Given the description of an element on the screen output the (x, y) to click on. 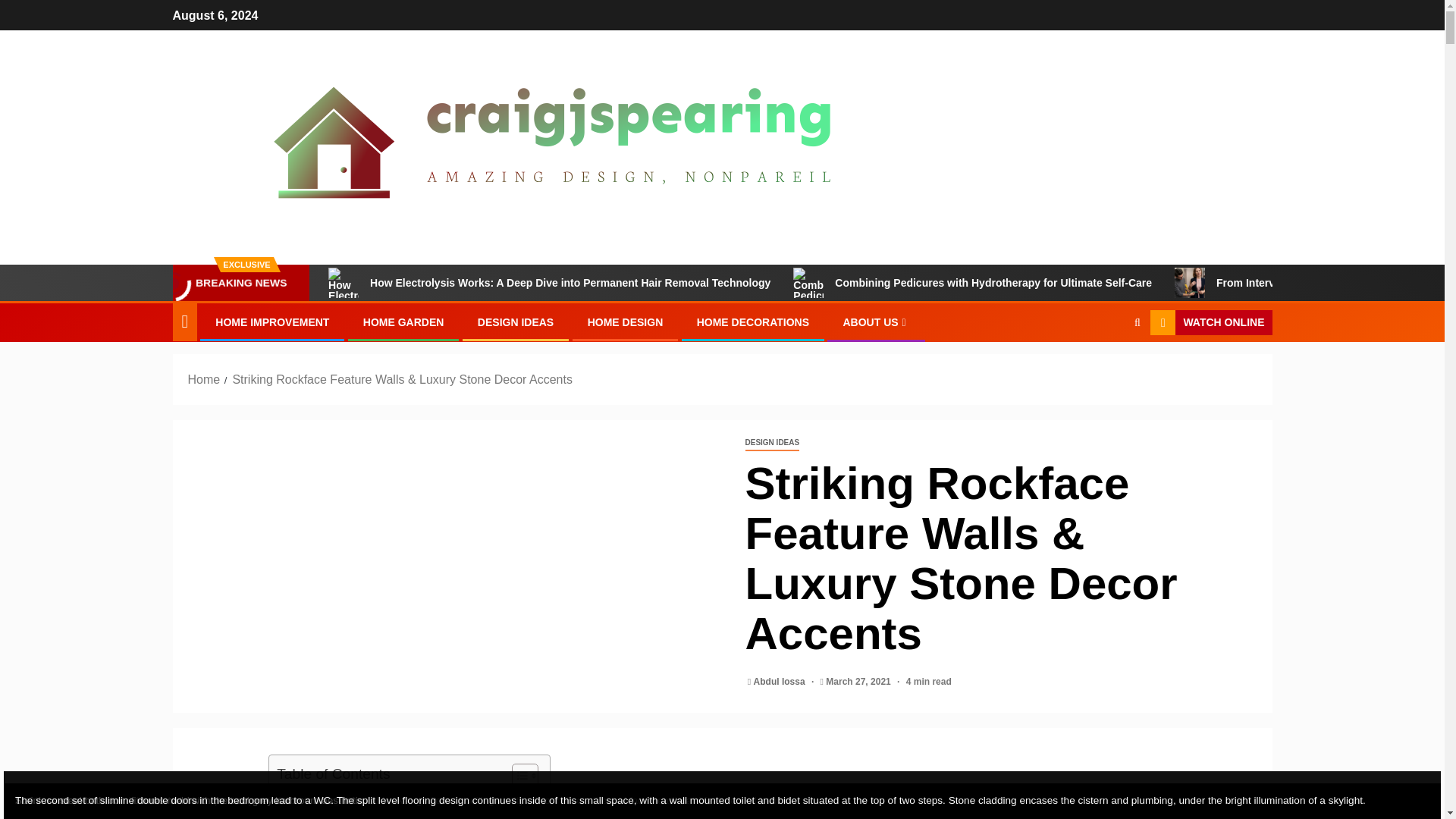
Home (204, 379)
HOME DECORATIONS (753, 322)
HOME GARDEN (403, 322)
DESIGN IDEAS (515, 322)
DESIGN IDEAS (771, 442)
HOME DESIGN (625, 322)
Did you like this article? (342, 812)
Combining Pedicures with Hydrotherapy for Ultimate Self-Care (972, 282)
HOME IMPROVEMENT (272, 322)
